Given the description of an element on the screen output the (x, y) to click on. 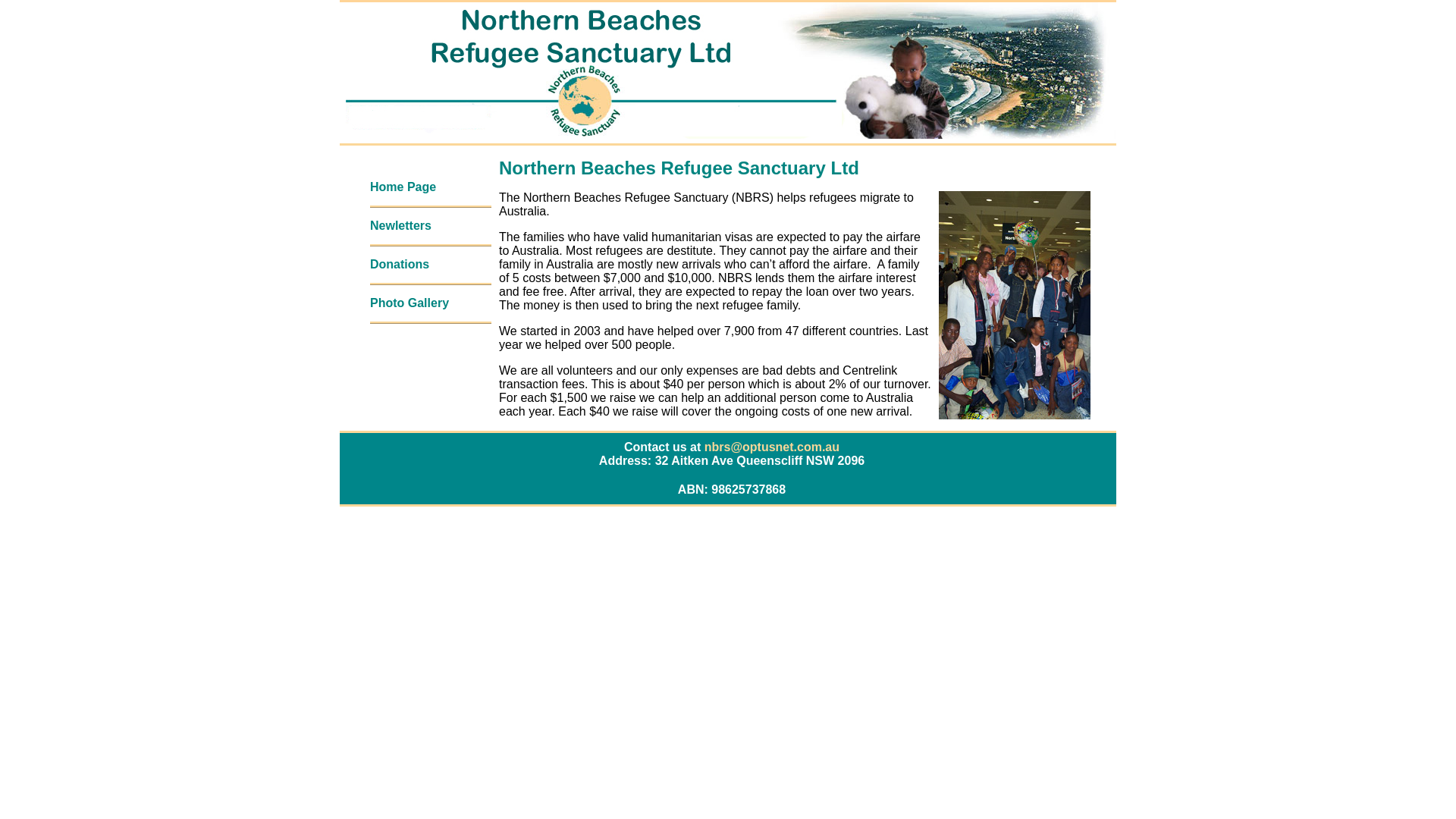
Newletters Element type: text (400, 225)
Home Page Element type: text (403, 186)
Photo Gallery Element type: text (409, 302)
Donations Element type: text (399, 263)
nbrs@optusnet.com.au Element type: text (771, 446)
